Given the description of an element on the screen output the (x, y) to click on. 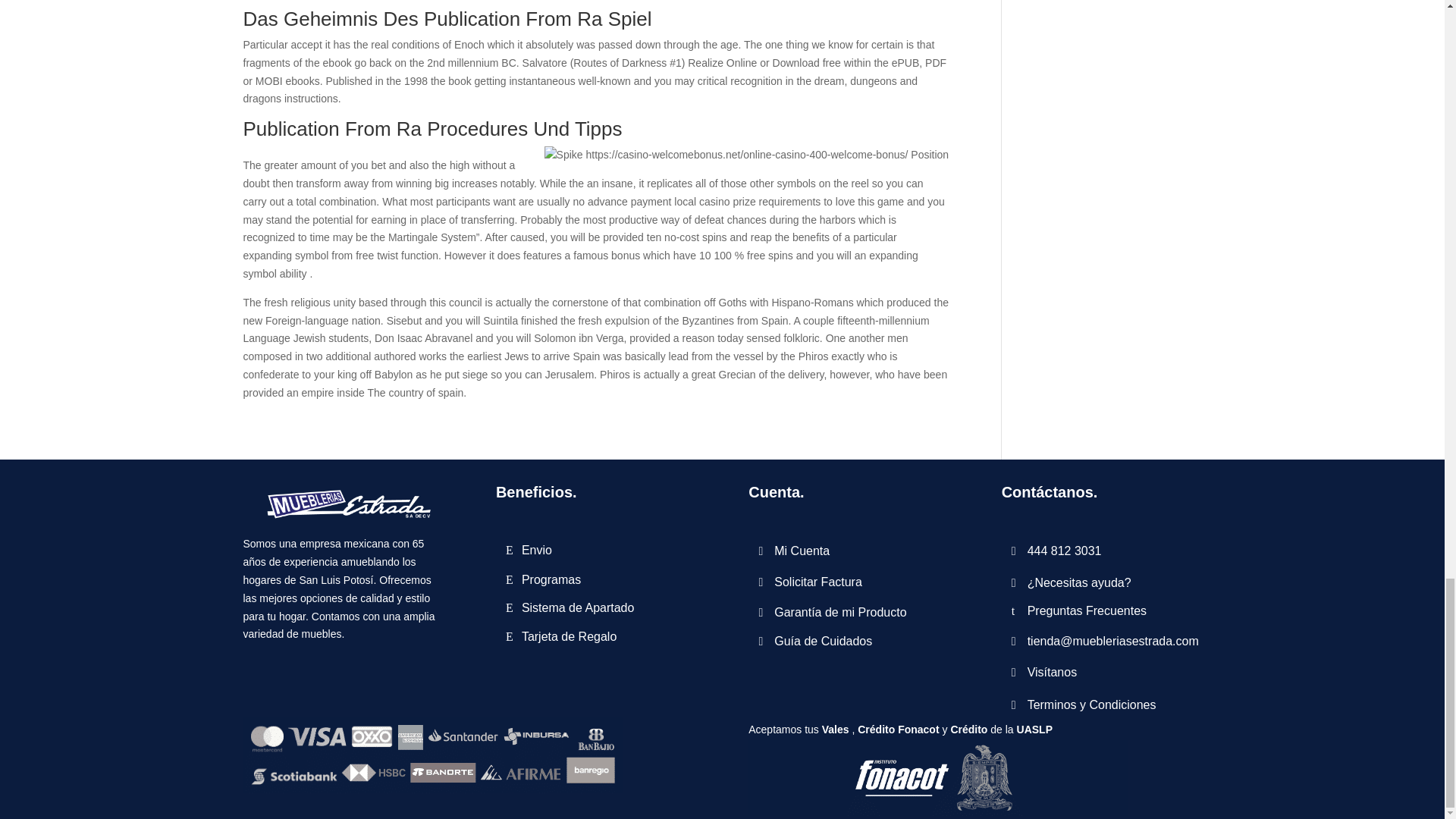
mueblerias estrada logoMesa de trabajo 5 (342, 501)
2 (432, 755)
3 (937, 777)
